Given the description of an element on the screen output the (x, y) to click on. 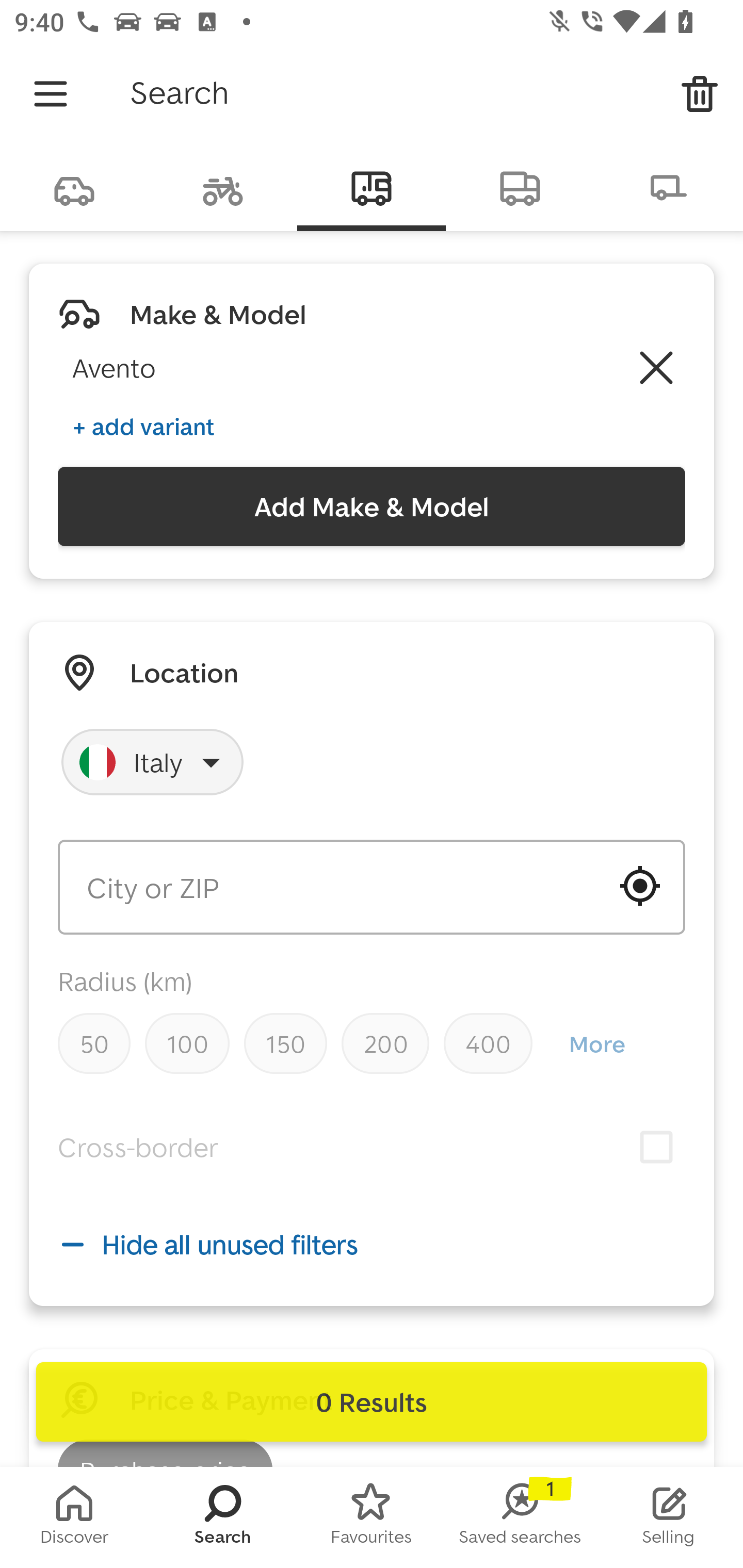
Navigate up (50, 93)
New search (699, 93)
CAR_SEARCH (74, 187)
BIKE_SEARCH (222, 187)
TRUCKS_SEARCH (519, 187)
TRAILERS_SEARCH (668, 187)
Make & Model (218, 314)
+ add variant (143, 426)
Add Make & Model (371, 506)
Location (184, 672)
Italy (152, 761)
City or ZIP (371, 887)
Radius (km) (124, 980)
50 (93, 1043)
100 (186, 1043)
150 (284, 1043)
200 (385, 1043)
400 (487, 1043)
More (596, 1043)
Hide all unused filters (371, 1244)
0 Results (371, 1401)
HOMESCREEN Discover (74, 1517)
SEARCH Search (222, 1517)
FAVORITES Favourites (371, 1517)
SAVED_SEARCHES Saved searches 1 (519, 1517)
STOCK_LIST Selling (668, 1517)
